Given the description of an element on the screen output the (x, y) to click on. 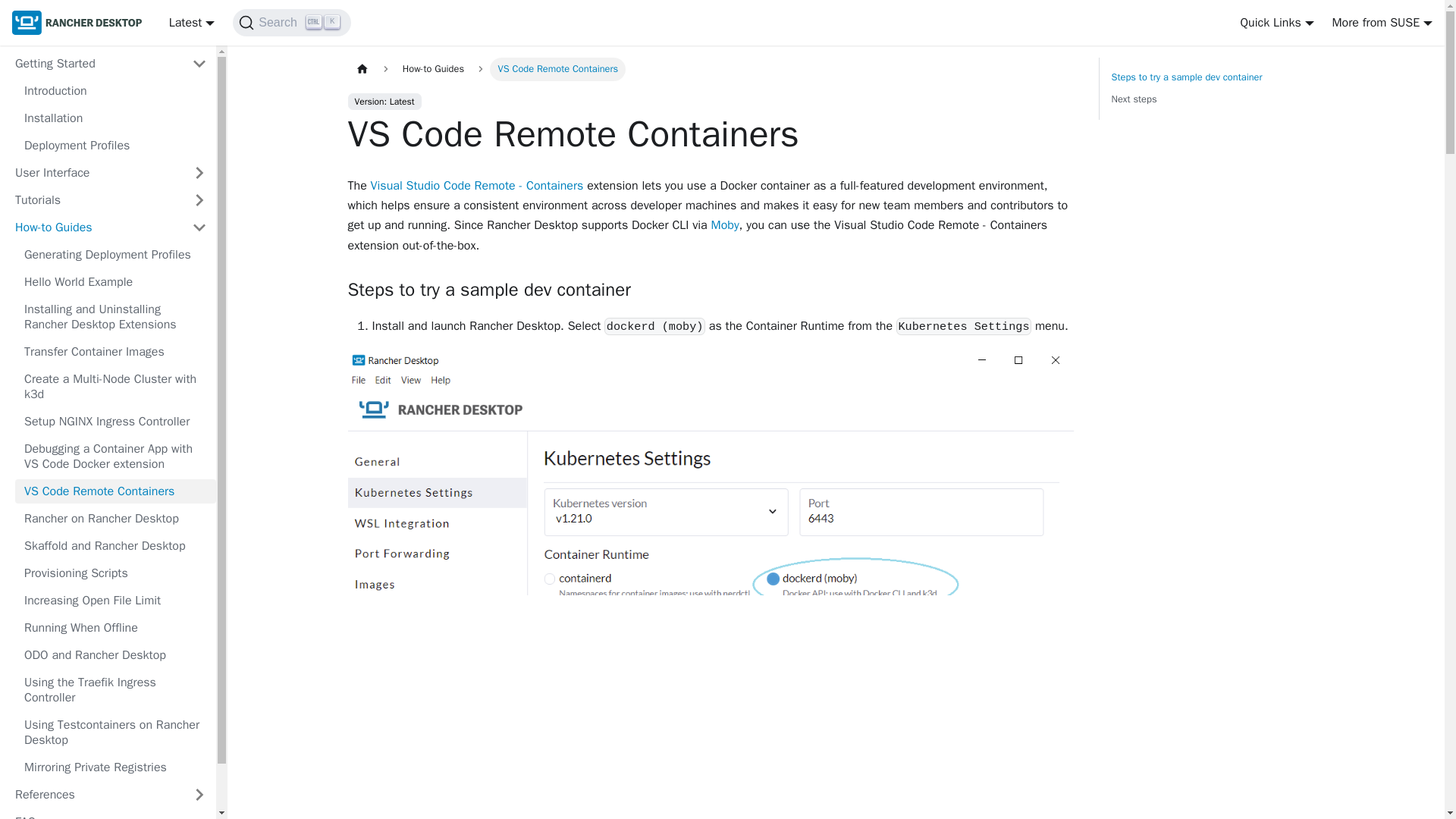
User Interface (110, 172)
Hello World Example (114, 282)
Quick Links (1276, 22)
Create a Multi-Node Cluster with k3d (114, 386)
Installation (1210, 88)
Setup NGINX Ingress Controller (114, 118)
More from SUSE (114, 421)
Latest (1382, 22)
Introduction (191, 22)
Tutorials (114, 90)
Transfer Container Images (110, 200)
How-to Guides (114, 351)
Installing and Uninstalling Rancher Desktop Extensions (110, 227)
